Given the description of an element on the screen output the (x, y) to click on. 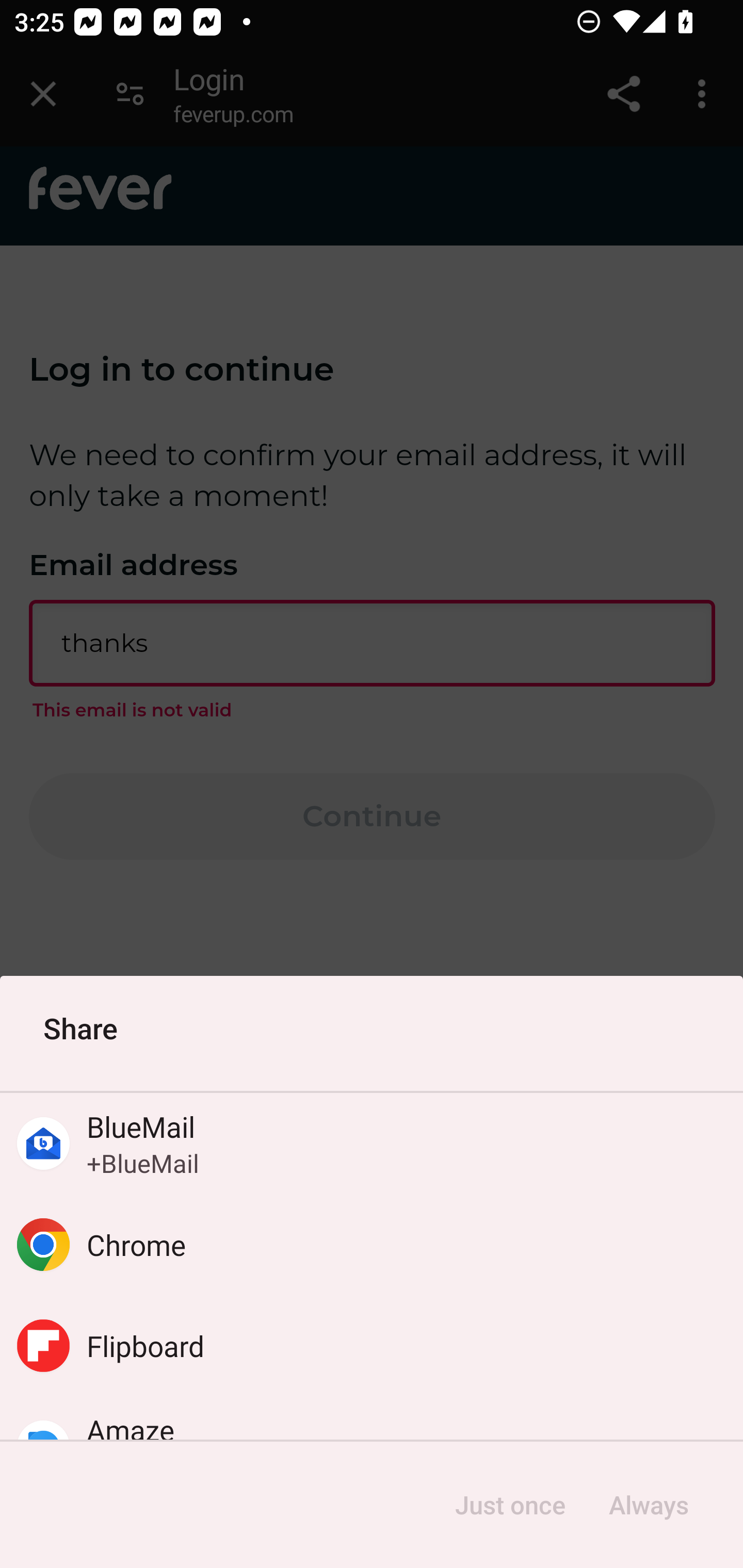
BlueMail +BlueMail (371, 1143)
Chrome (371, 1244)
Flipboard (371, 1345)
Just once (509, 1504)
Always (648, 1504)
